Given the description of an element on the screen output the (x, y) to click on. 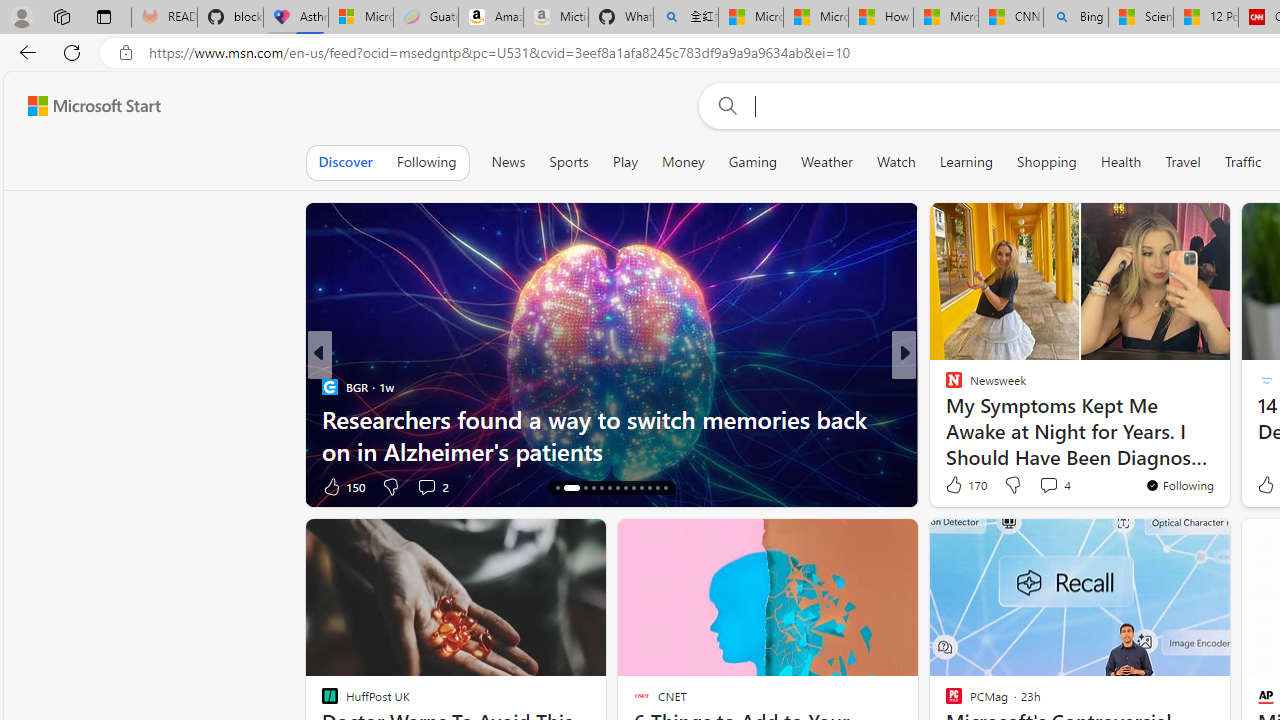
View comments 18 Comment (1051, 486)
3 Like (952, 486)
236 Like (959, 486)
113 Like (342, 486)
AutomationID: tab-21 (624, 487)
AutomationID: tab-22 (632, 487)
